Given the description of an element on the screen output the (x, y) to click on. 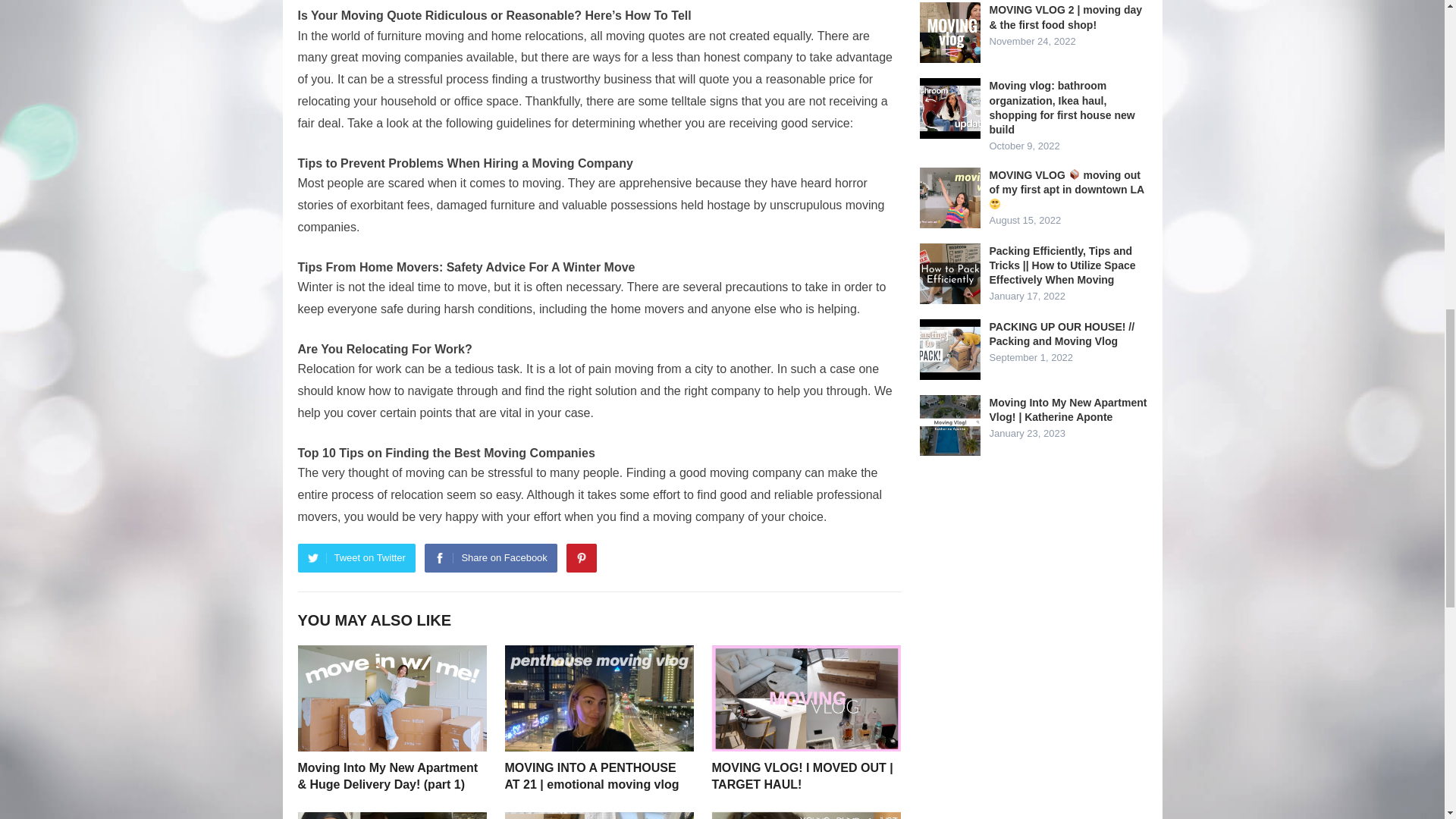
Tweet on Twitter (355, 557)
Pinterest (581, 557)
Share on Facebook (490, 557)
